Given the description of an element on the screen output the (x, y) to click on. 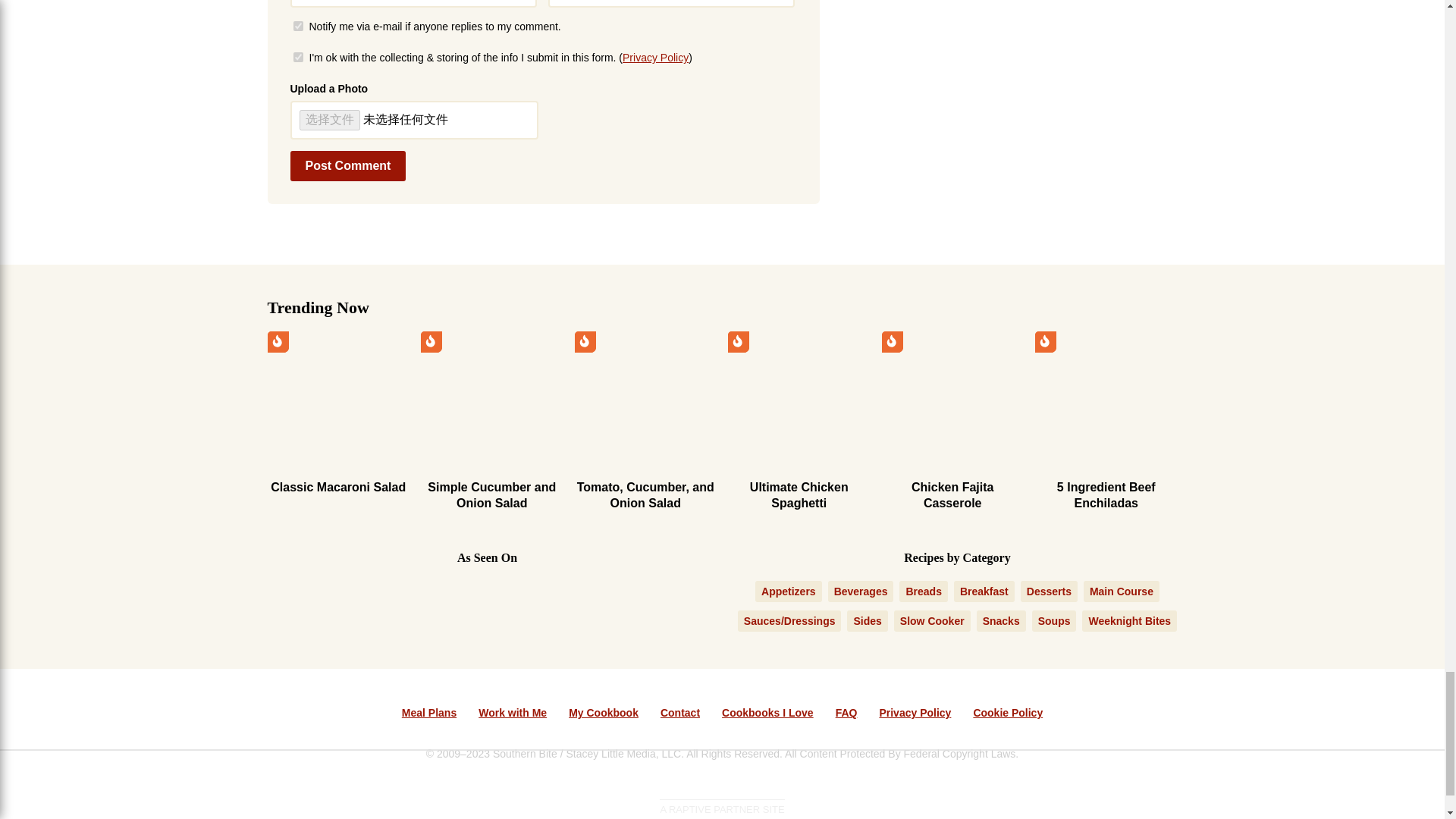
Post Comment (347, 165)
on (297, 26)
Privacy Policy (655, 57)
yes (297, 57)
